Given the description of an element on the screen output the (x, y) to click on. 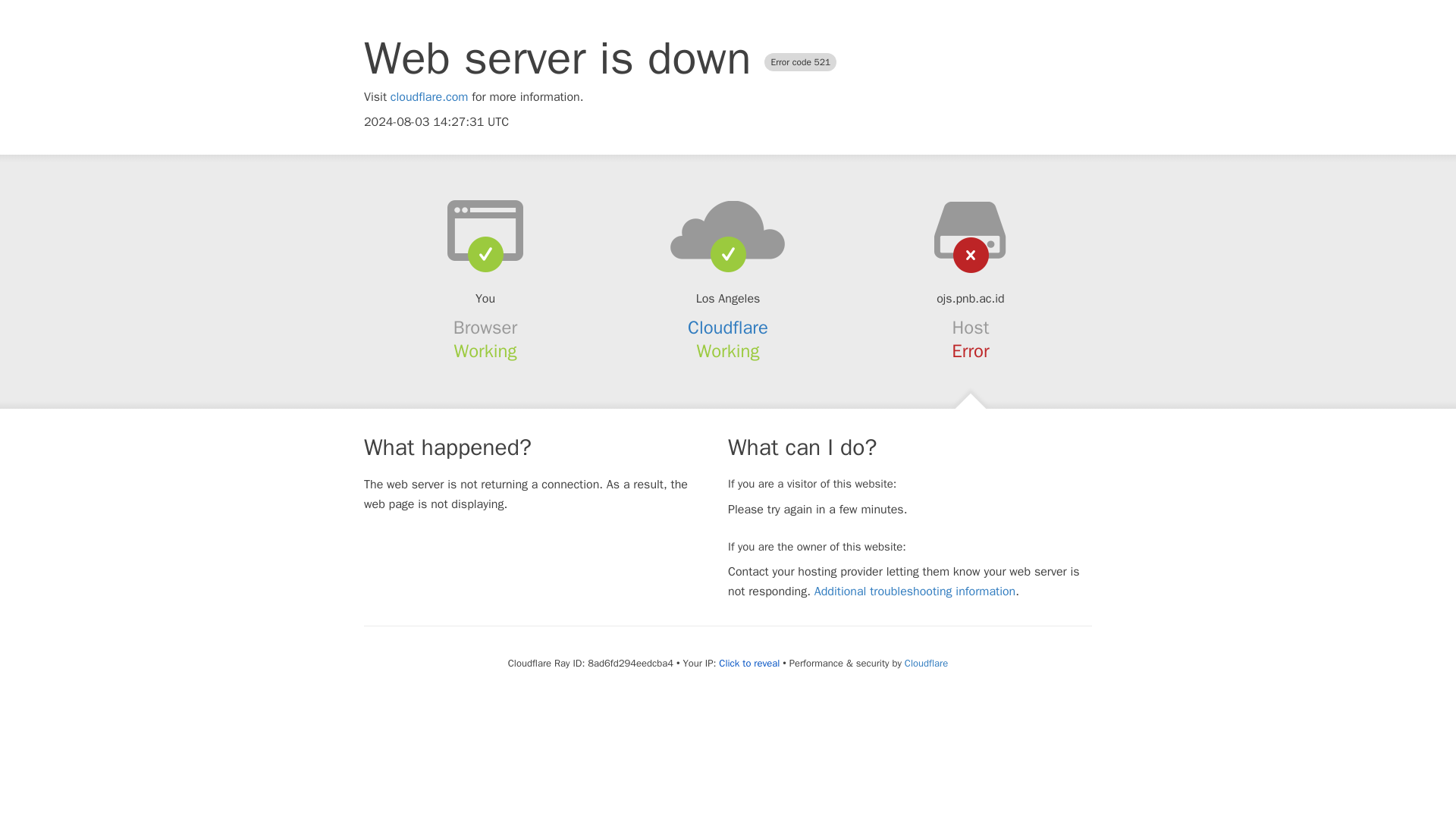
Click to reveal (748, 663)
Additional troubleshooting information (913, 590)
Cloudflare (925, 662)
cloudflare.com (429, 96)
Cloudflare (727, 327)
